Given the description of an element on the screen output the (x, y) to click on. 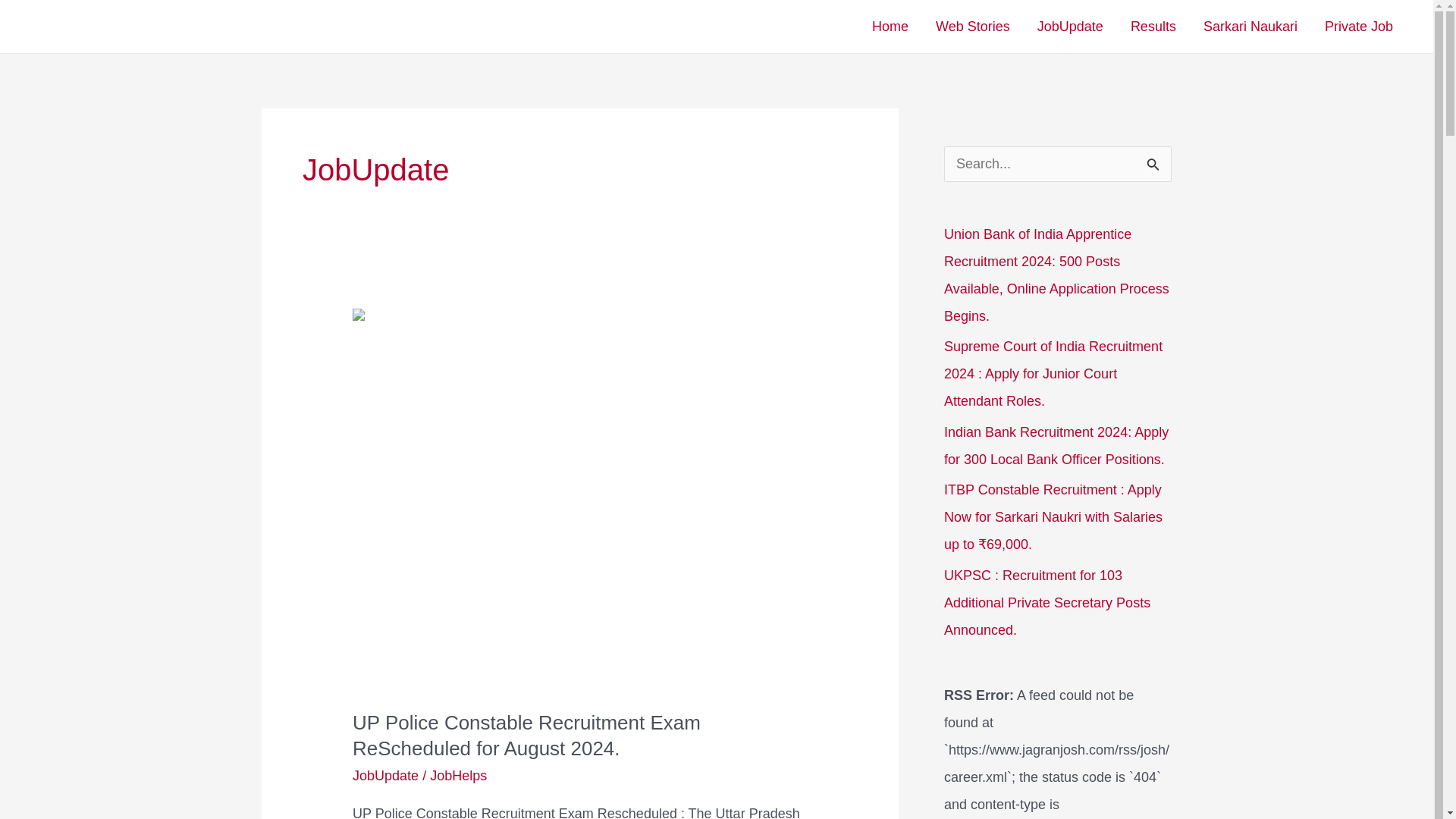
View all posts by JobHelps (457, 775)
Home (890, 26)
Search (1154, 162)
JobUpdate (385, 775)
Search (1154, 162)
Private Job (1358, 26)
JobHelps (457, 775)
Sarkari Naukari (1250, 26)
Web Stories (972, 26)
